Given the description of an element on the screen output the (x, y) to click on. 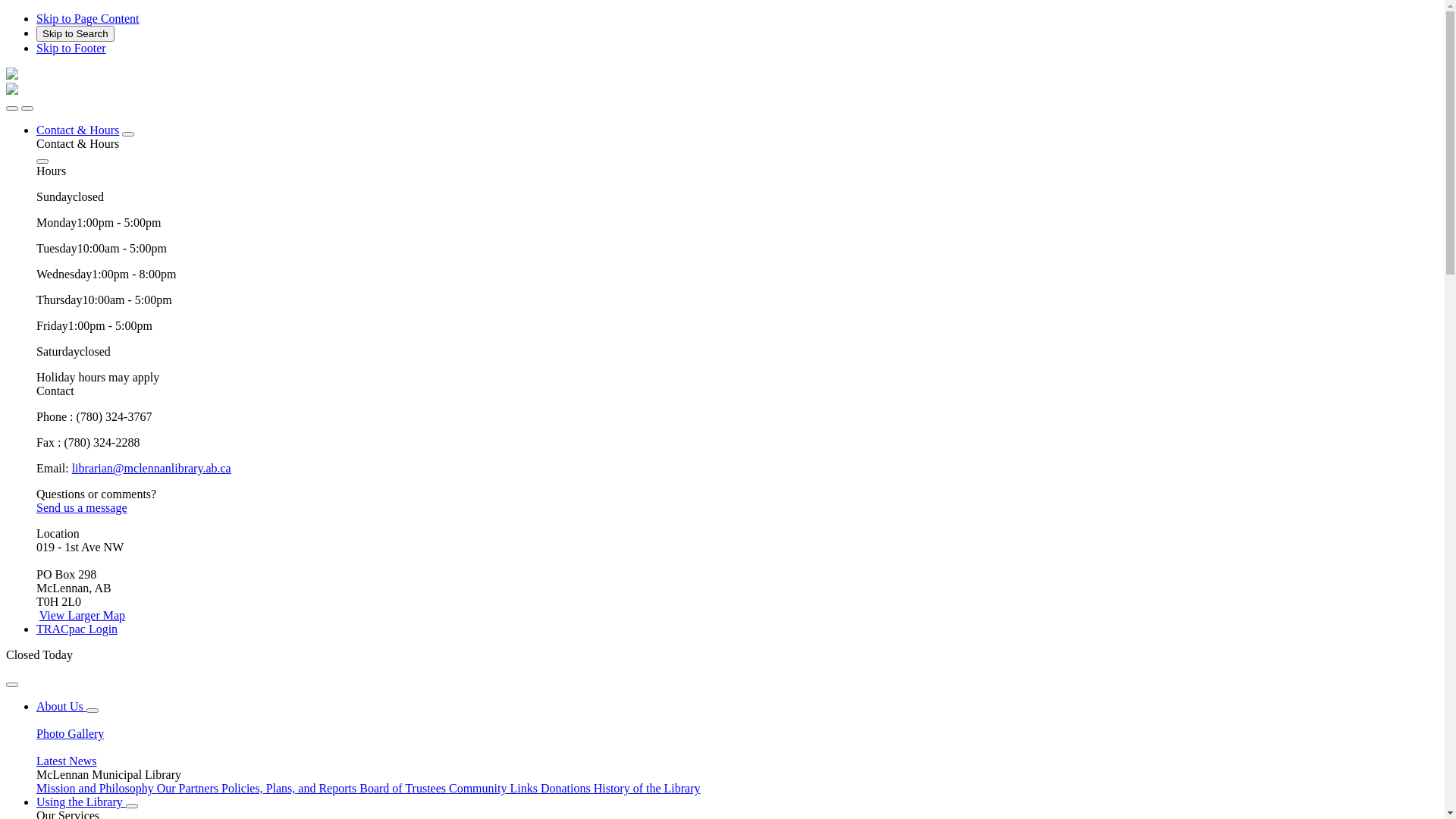
About Us Element type: text (61, 705)
Send us a message Element type: text (81, 507)
Board of Trustees Element type: text (403, 787)
Donations Element type: text (566, 787)
Using the Library Element type: text (80, 801)
Latest News Element type: text (737, 754)
Skip to Page Content Element type: text (87, 18)
TRACpac Login Element type: text (76, 628)
Policies, Plans, and Reports Element type: text (290, 787)
Skip to Footer Element type: text (71, 47)
Our Partners Element type: text (188, 787)
View Larger Map Element type: text (82, 614)
Community Links Element type: text (494, 787)
McLennan Municipal Library Element type: hover (12, 90)
Skip to Search Element type: text (75, 33)
librarian@mclennanlibrary.ab.ca Element type: text (151, 467)
Photo Gallery Element type: text (737, 726)
History of the Library Element type: text (646, 787)
Contact & Hours Element type: text (77, 129)
Mission and Philosophy Element type: text (96, 787)
